Given the description of an element on the screen output the (x, y) to click on. 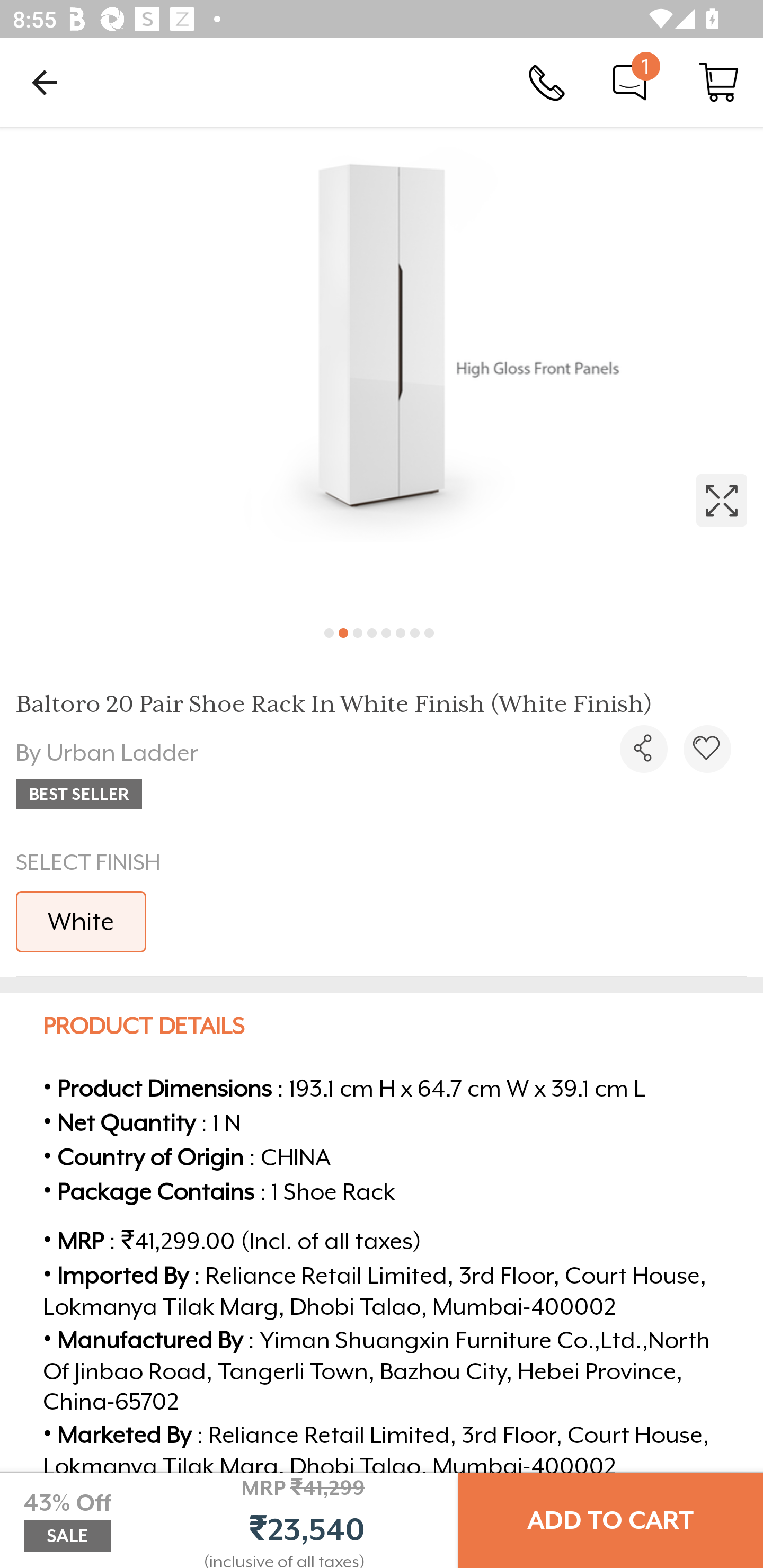
Navigate up (44, 82)
Call Us (546, 81)
Chat (629, 81)
Cart (718, 81)
 (381, 370)
 (643, 748)
 (706, 748)
White (81, 920)
ADD TO CART (610, 1520)
